Given the description of an element on the screen output the (x, y) to click on. 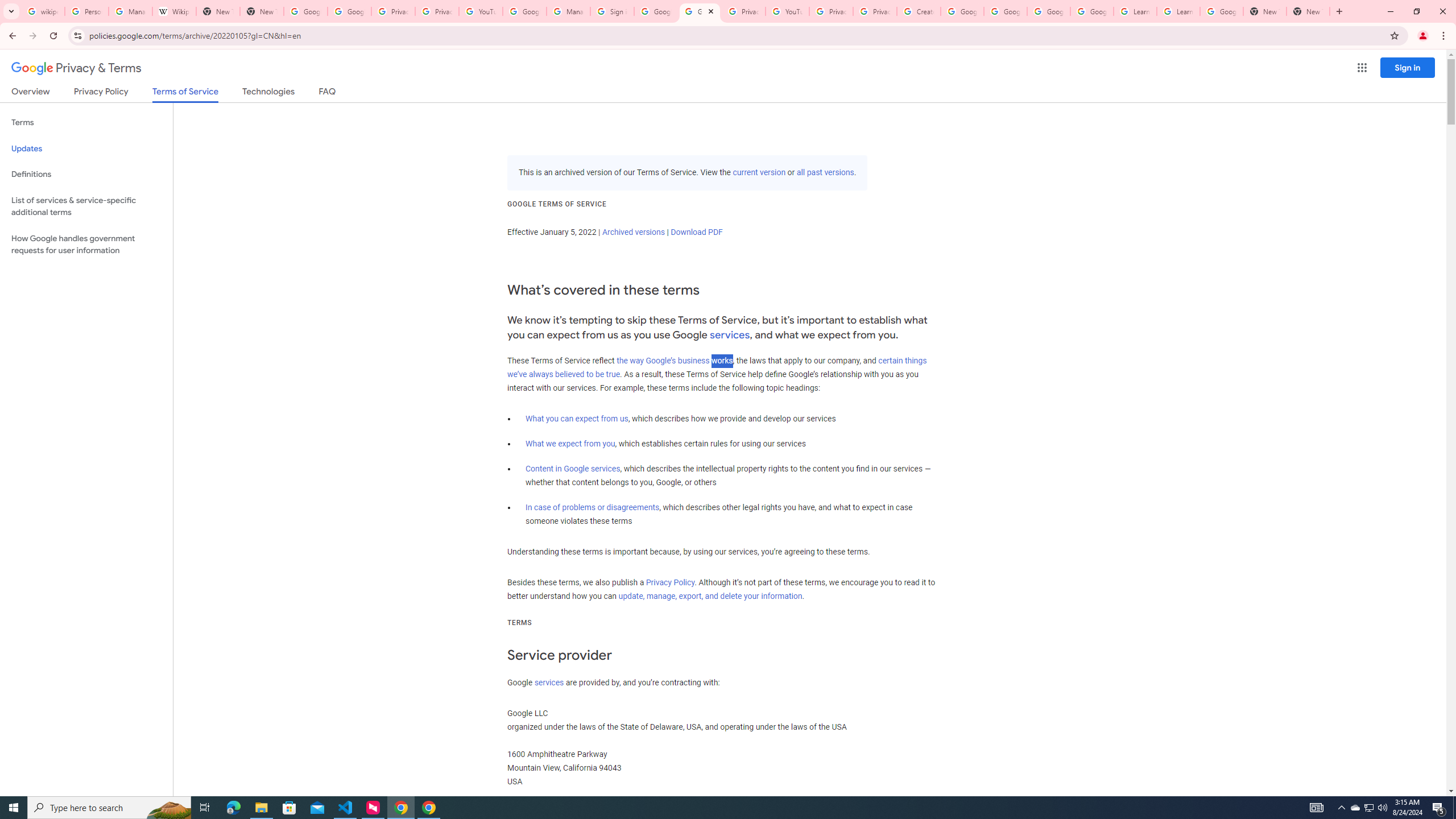
What you can expect from us (576, 418)
Sign in - Google Accounts (612, 11)
Google Drive: Sign-in (349, 11)
YouTube (786, 11)
Download PDF (696, 231)
